Given the description of an element on the screen output the (x, y) to click on. 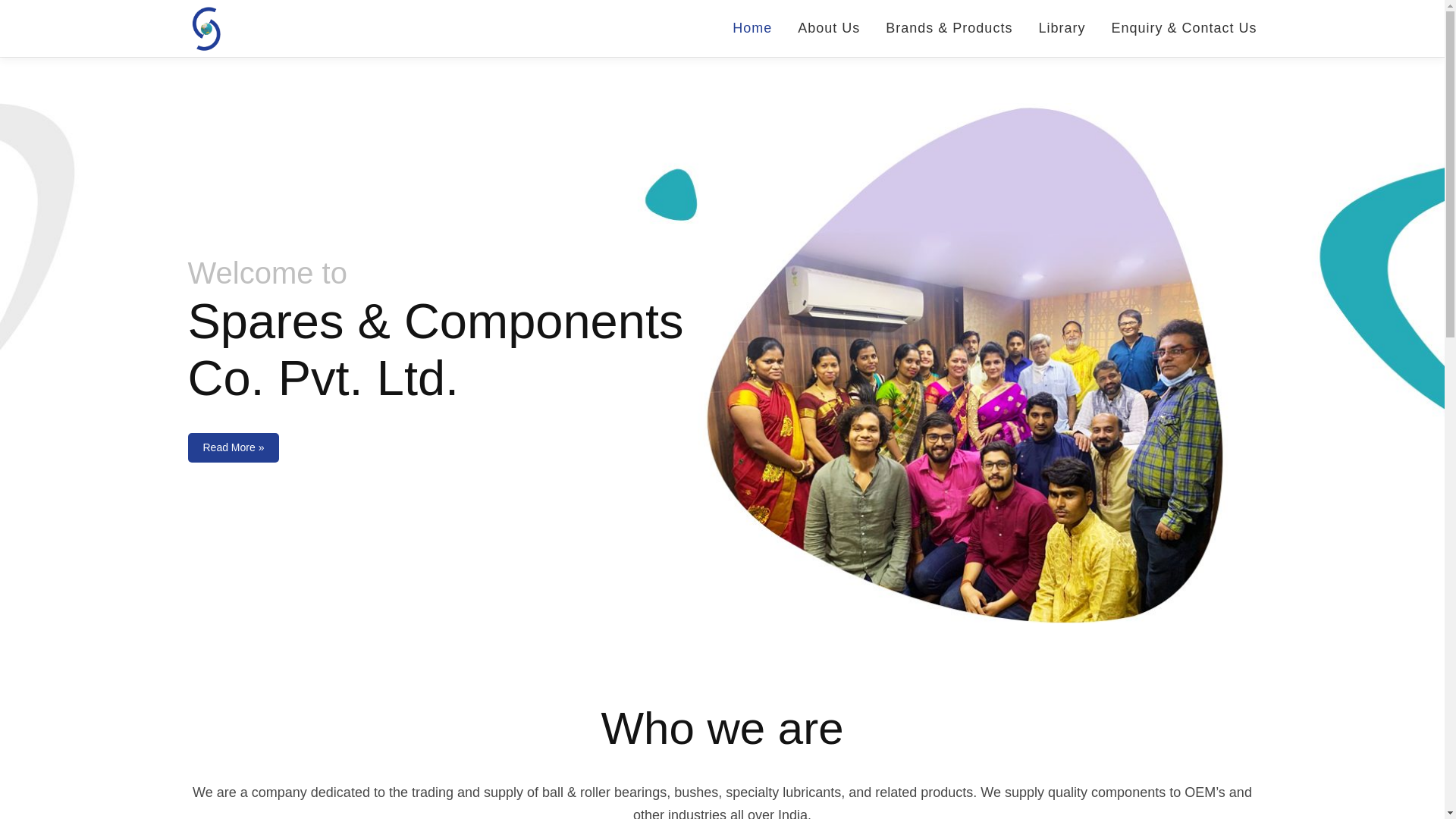
Library (1061, 28)
About Us (828, 28)
Home (751, 28)
